Given the description of an element on the screen output the (x, y) to click on. 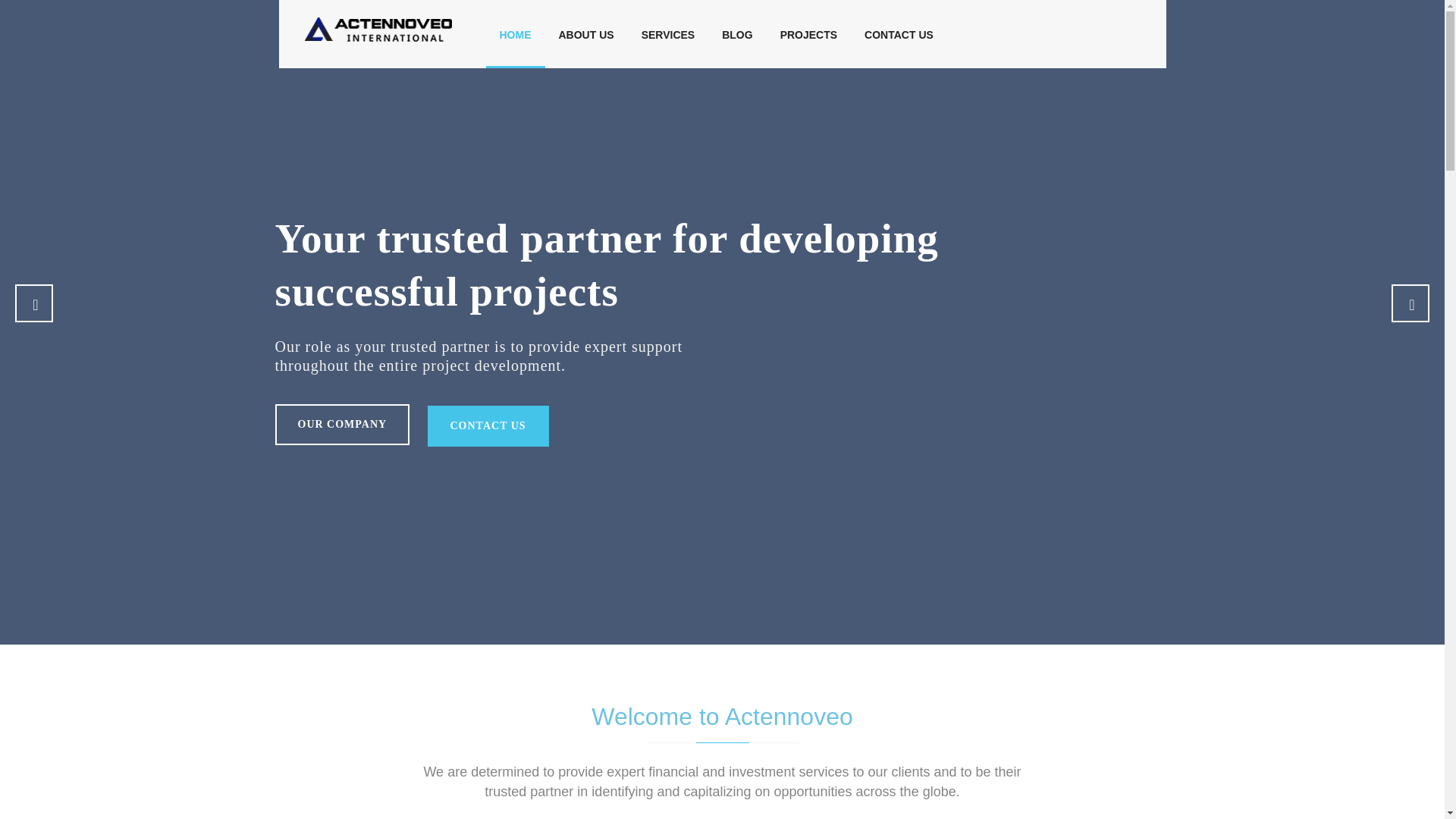
Actennoveo International (378, 29)
CONTACT US (898, 33)
ABOUT US (585, 33)
CONTACT US (488, 425)
Contact Us (898, 33)
ABOUT US (585, 33)
Services (668, 33)
OUR COMPANY (342, 424)
SERVICES (668, 33)
PROJECTS (808, 33)
Projects (808, 33)
